Given the description of an element on the screen output the (x, y) to click on. 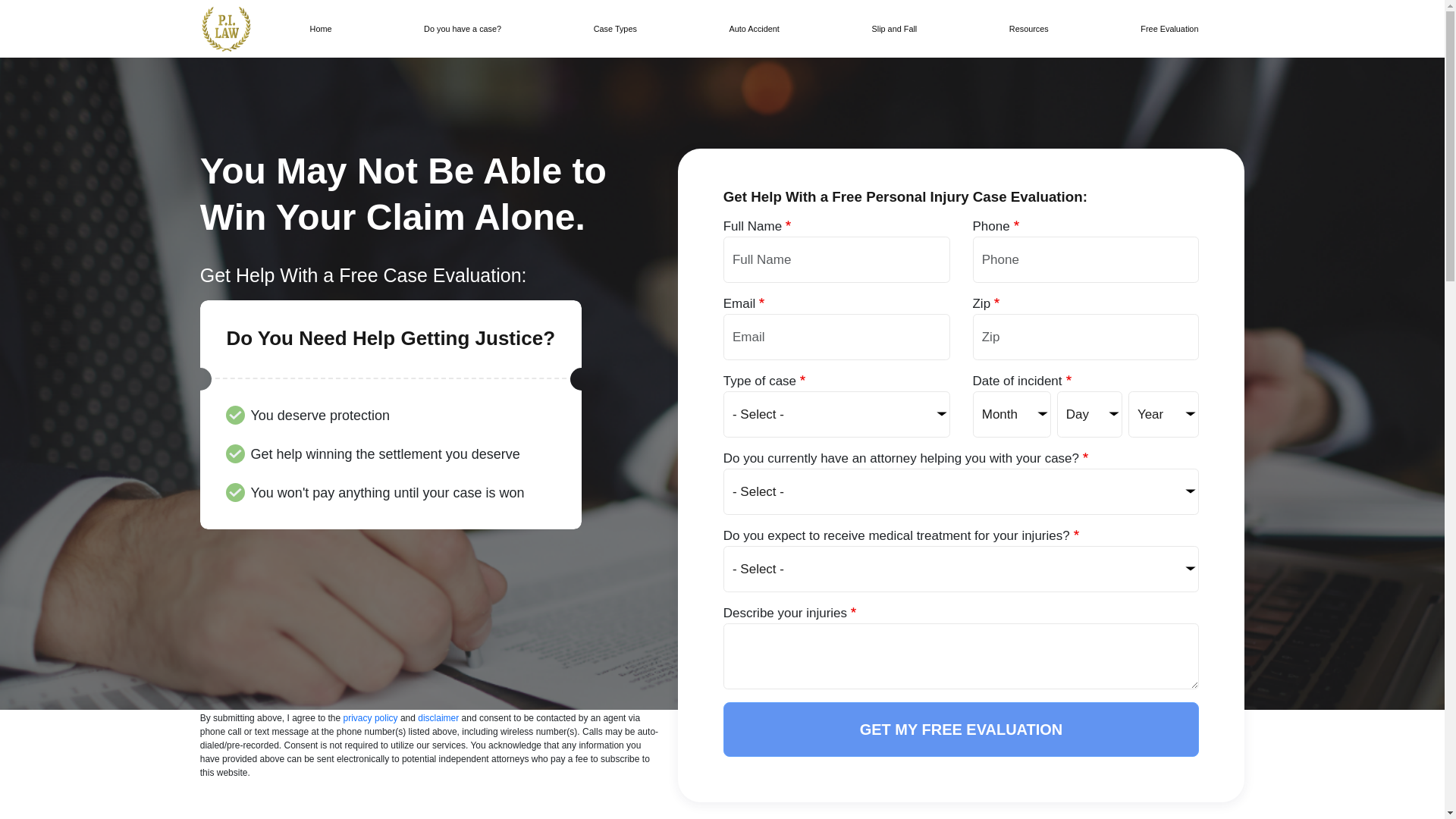
Auto Accident (753, 28)
Do you have a case? (462, 28)
Slip and Fall (893, 28)
Case Types (614, 28)
privacy policy (370, 717)
Free Evaluation (1169, 28)
Resources (1028, 28)
disclaimer (437, 717)
Home (225, 28)
GET MY FREE EVALUATION (961, 728)
Home (320, 28)
Day (1089, 414)
Month (1011, 414)
Year (1163, 414)
